Given the description of an element on the screen output the (x, y) to click on. 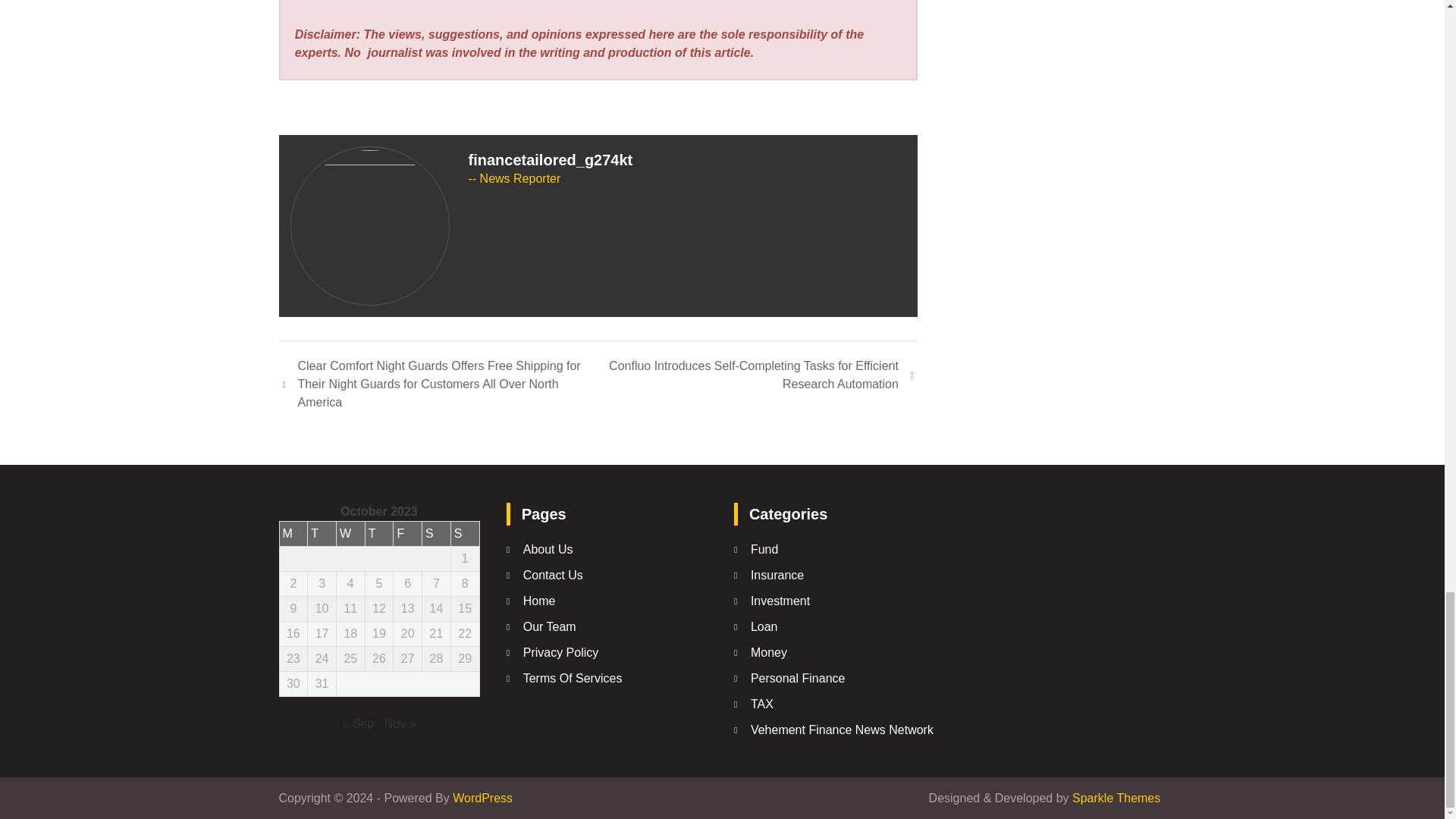
Wednesday (350, 534)
Saturday (436, 534)
Sunday (464, 534)
Thursday (379, 534)
Tuesday (321, 534)
Friday (407, 534)
Monday (293, 534)
